Given the description of an element on the screen output the (x, y) to click on. 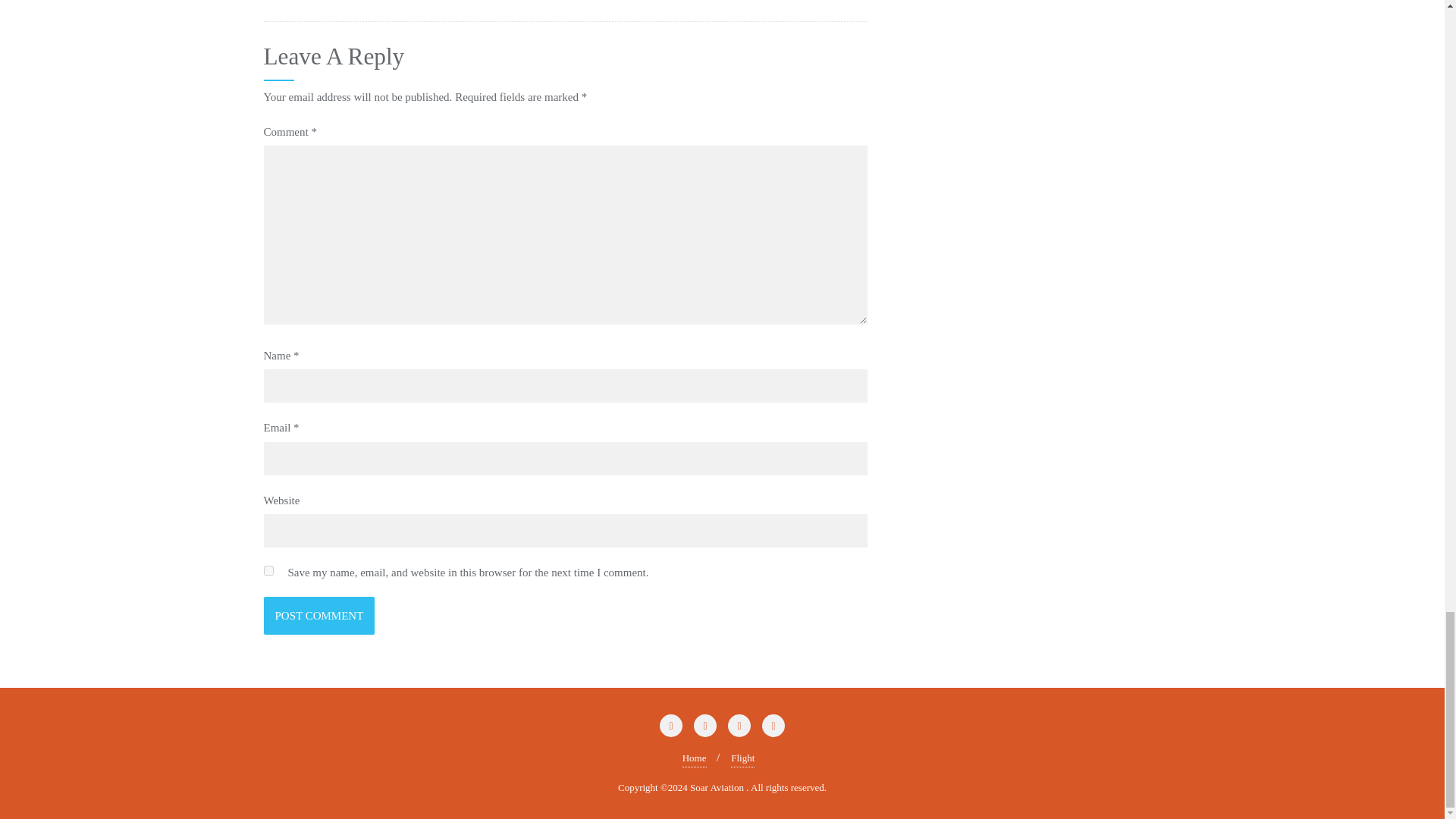
Home (694, 758)
Post Comment (319, 615)
yes (268, 570)
Post Comment (319, 615)
Flight (742, 758)
